Given the description of an element on the screen output the (x, y) to click on. 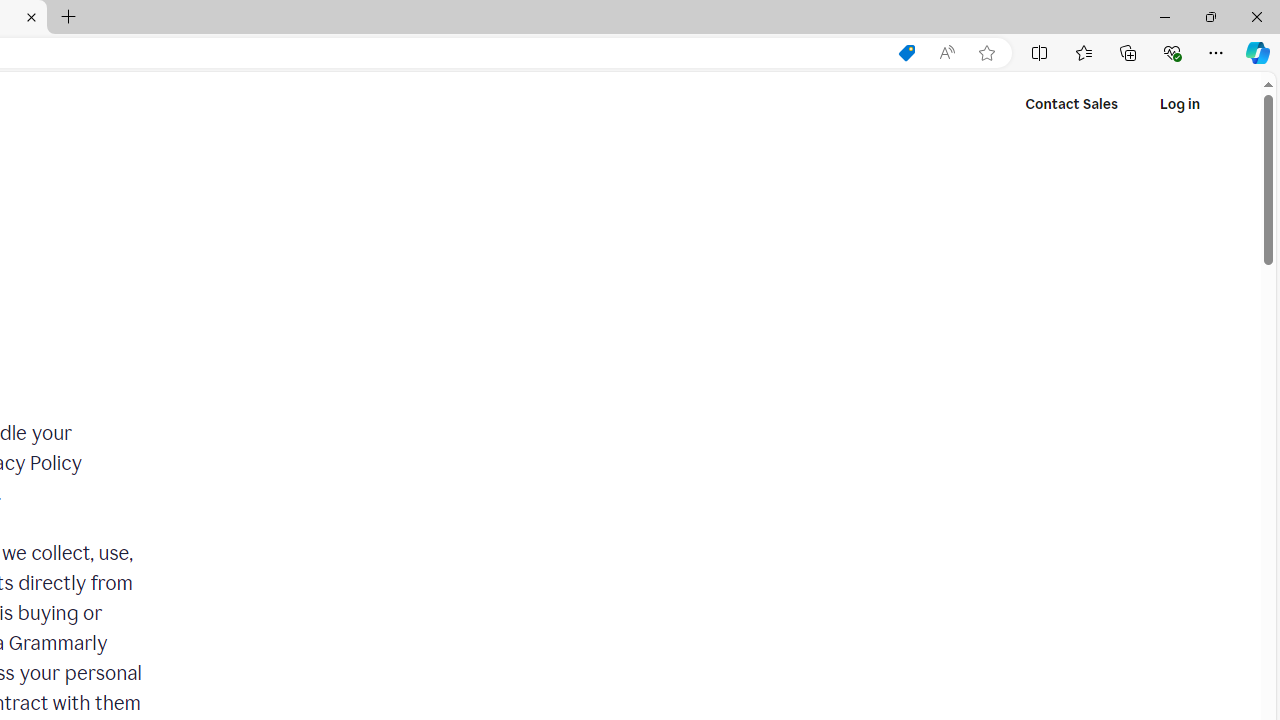
Contact Sales (1071, 103)
Log in (1179, 103)
